Given the description of an element on the screen output the (x, y) to click on. 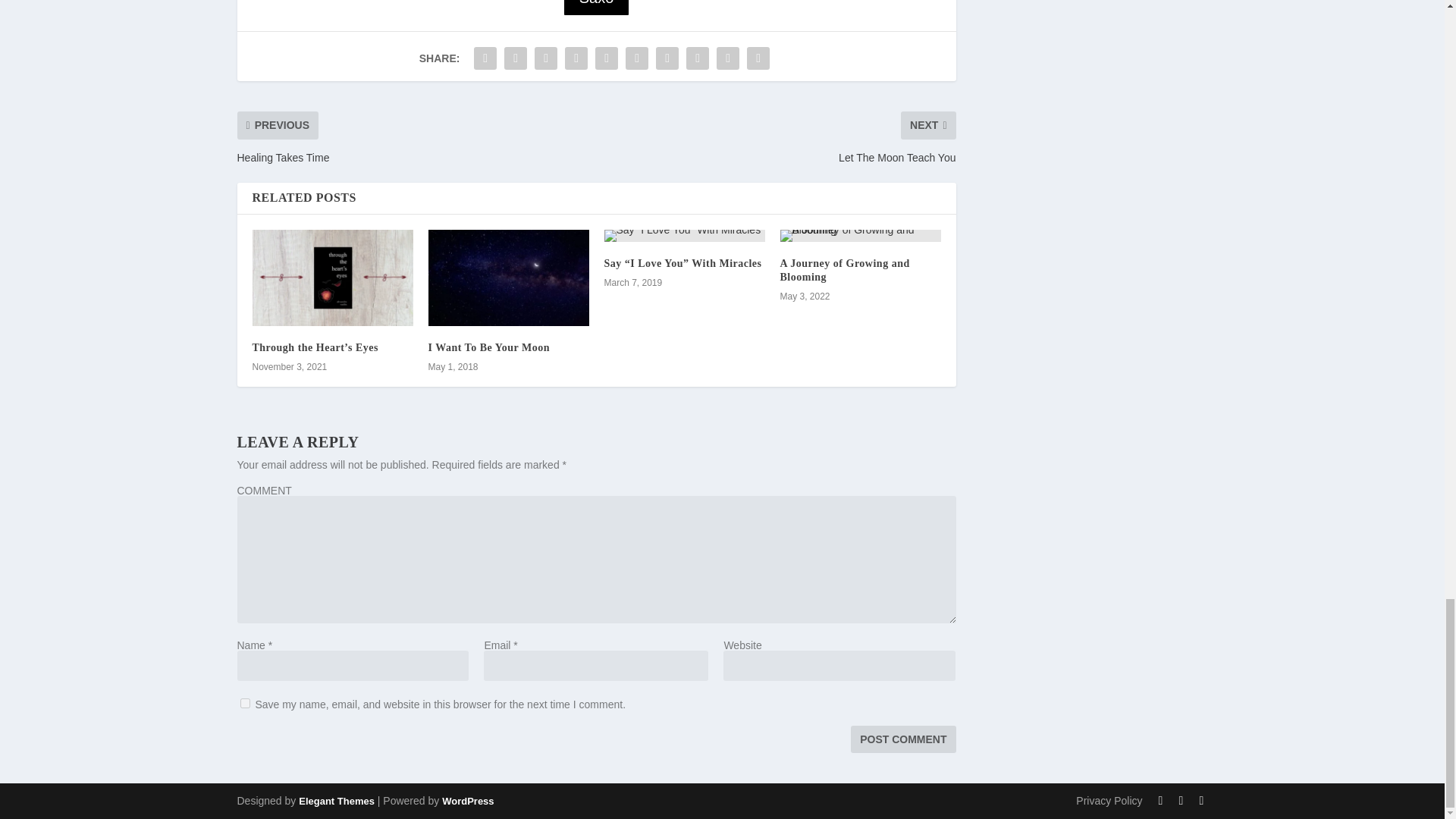
Share "My Heart Is The Ocean" via LinkedIn (636, 58)
Share "My Heart Is The Ocean" via Pinterest (606, 58)
Share "My Heart Is The Ocean" via Twitter (515, 58)
Share "My Heart Is The Ocean" via Facebook (485, 58)
Saxo (596, 8)
Post Comment (902, 738)
Share "My Heart Is The Ocean" via Tumblr (575, 58)
yes (244, 703)
Share "My Heart Is The Ocean" via Buffer (667, 58)
Share "My Heart Is The Ocean" via Stumbleupon (697, 58)
